Given the description of an element on the screen output the (x, y) to click on. 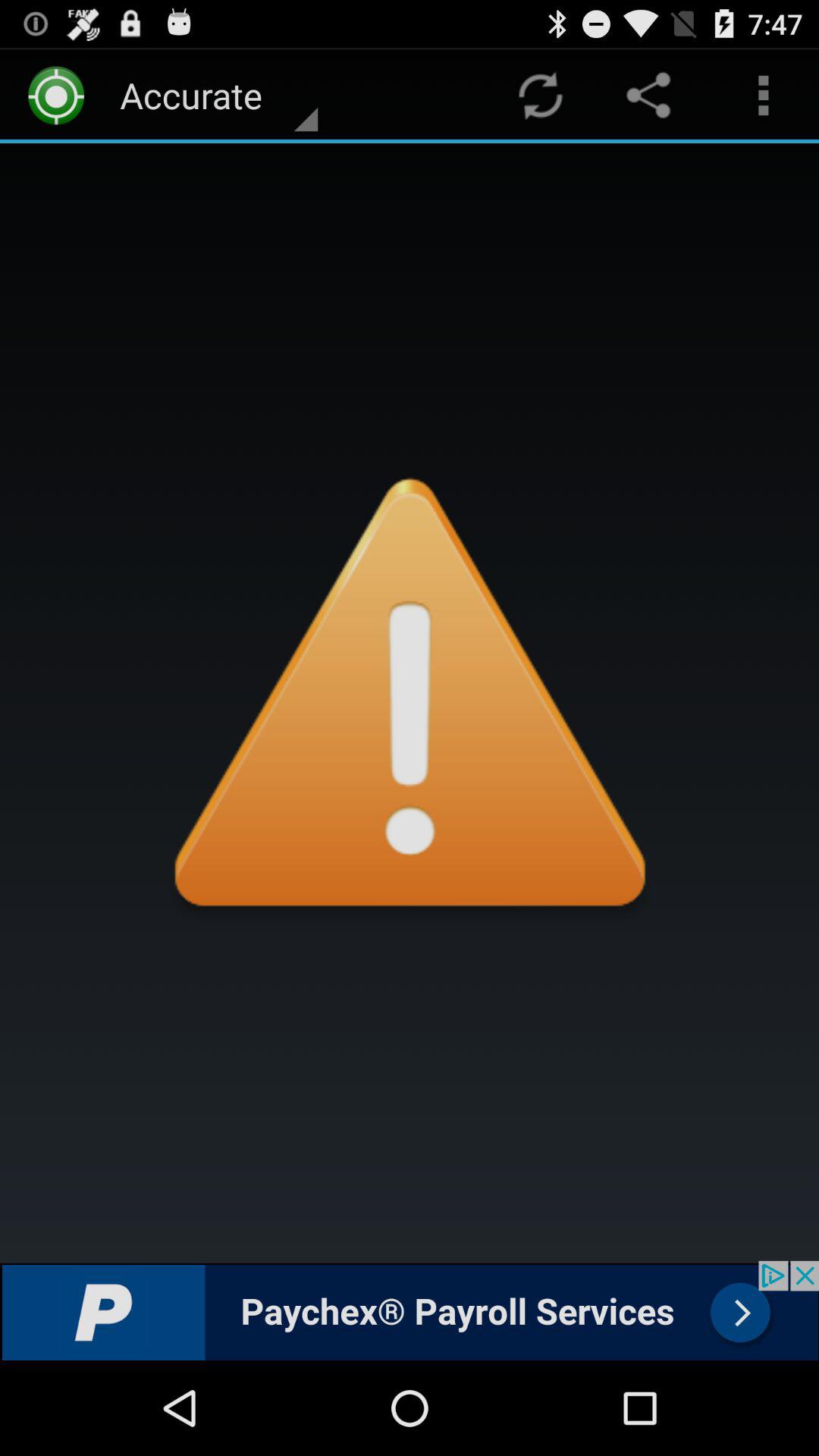
app advertisement (409, 1310)
